Given the description of an element on the screen output the (x, y) to click on. 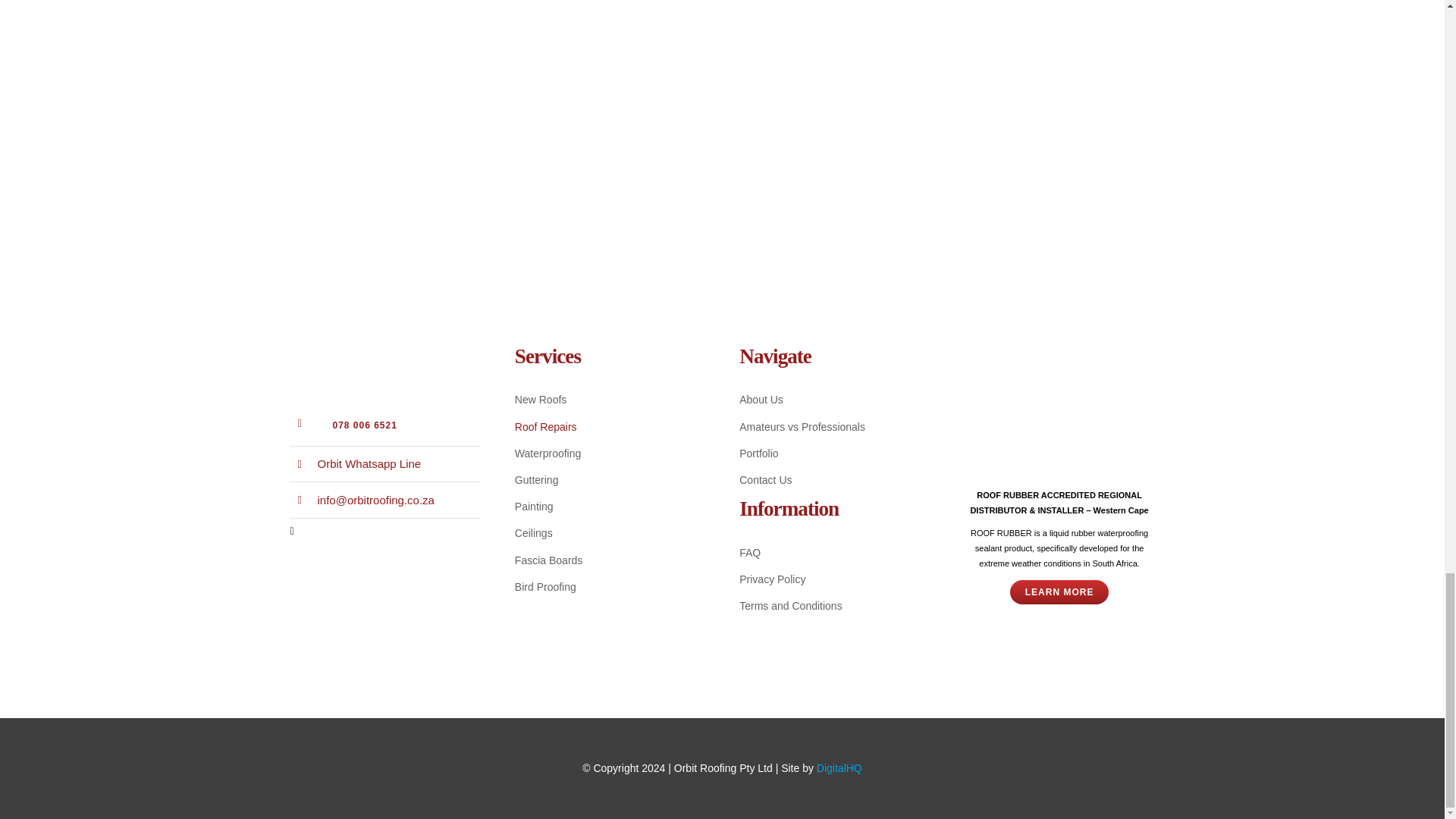
Roof Rubber Accredited Installers (1058, 408)
Orbit Logo (365, 361)
078 006 6521 (364, 425)
Orbit Whatsapp Line (368, 463)
Roof Repairs (609, 426)
Waterproofing (609, 453)
Guttering (609, 479)
New Roofs (609, 399)
